Given the description of an element on the screen output the (x, y) to click on. 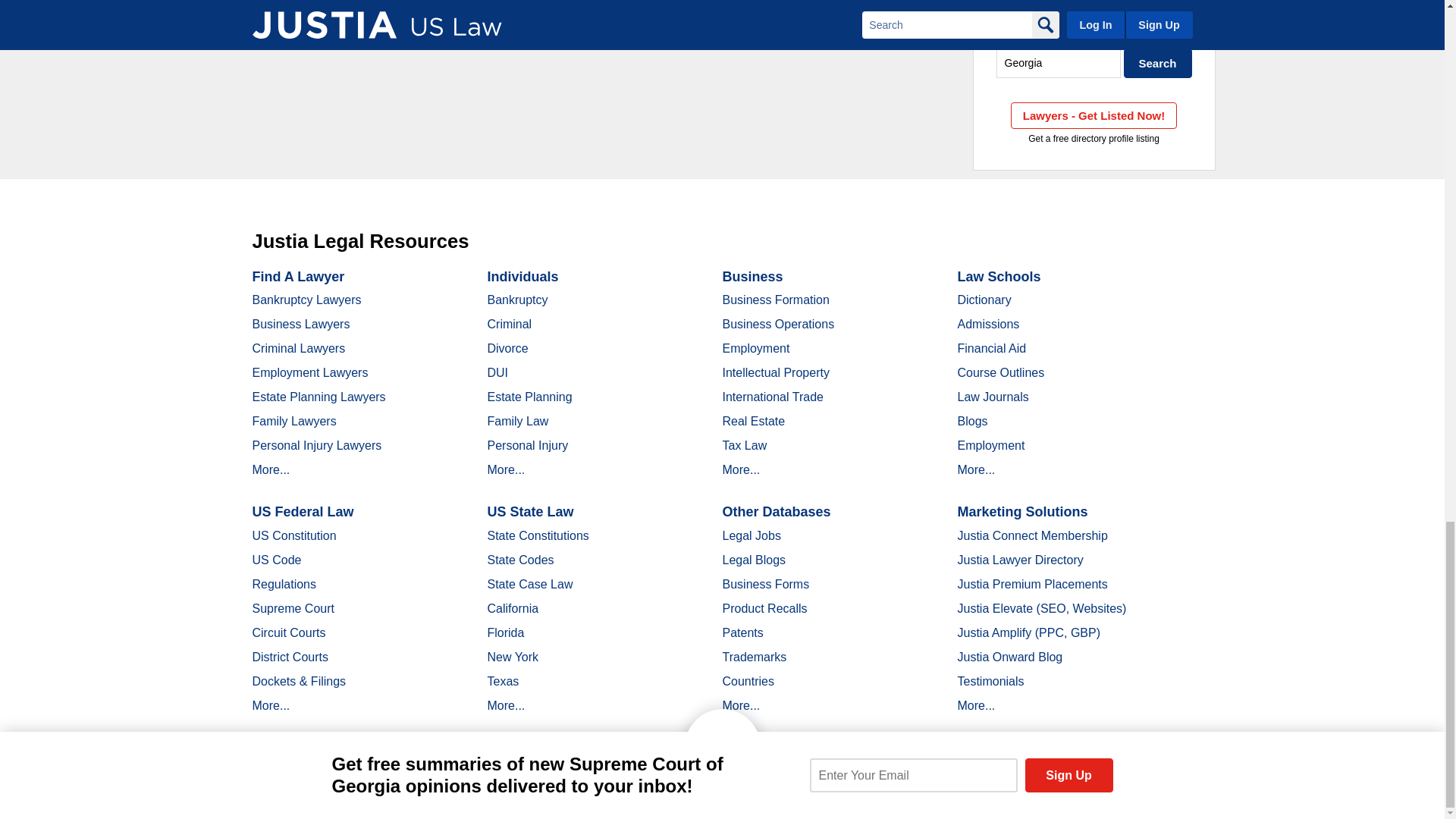
Twitter (372, 791)
City, State (1058, 62)
Search (1158, 62)
Georgia (1058, 62)
LinkedIn (398, 791)
Facebook (345, 791)
YouTube (424, 791)
Legal Issue or Lawyer Name (1093, 30)
Search (1158, 62)
